Given the description of an element on the screen output the (x, y) to click on. 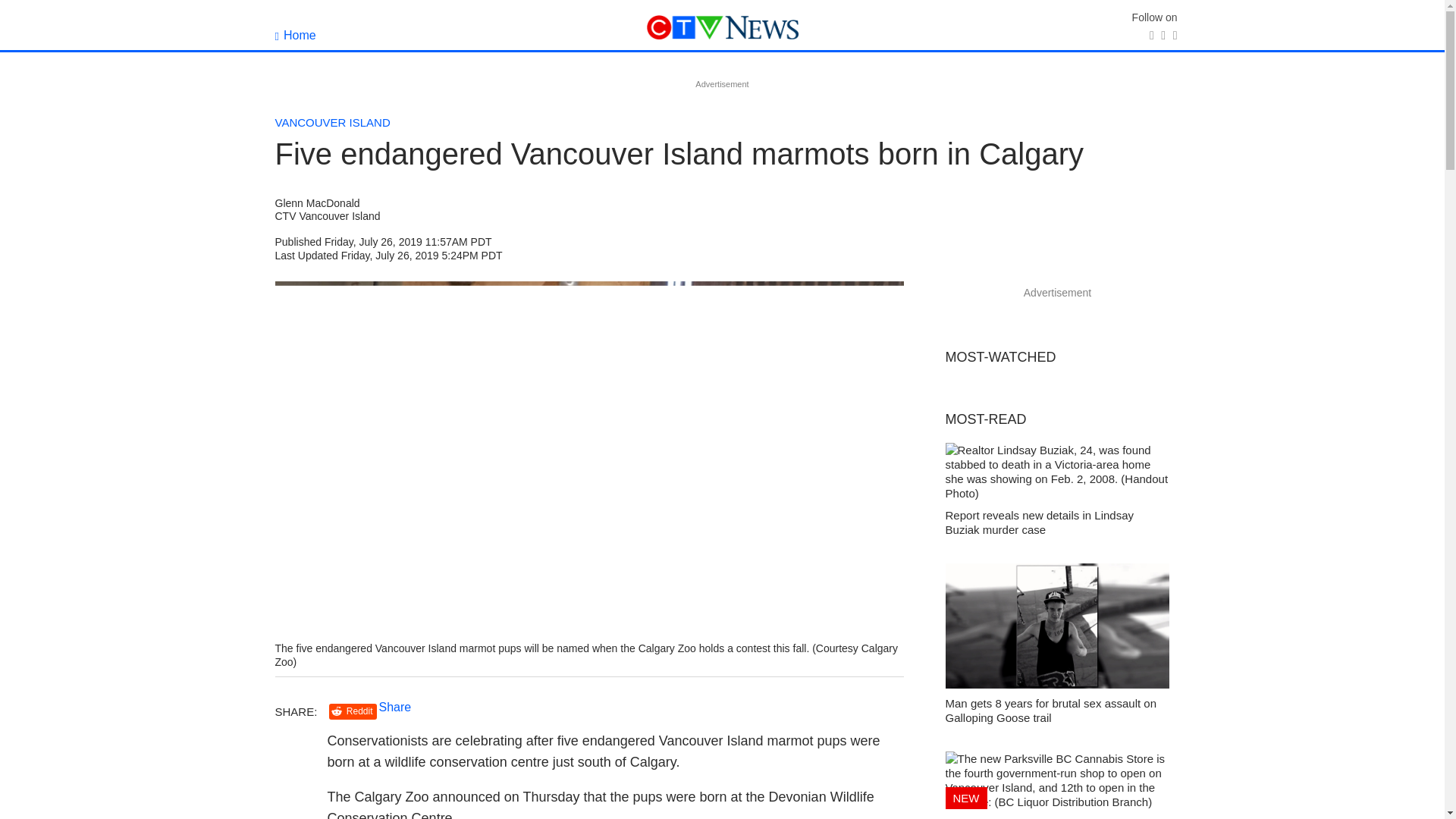
Home (295, 34)
Reddit (353, 711)
Share (395, 707)
VANCOUVER ISLAND (332, 122)
